Given the description of an element on the screen output the (x, y) to click on. 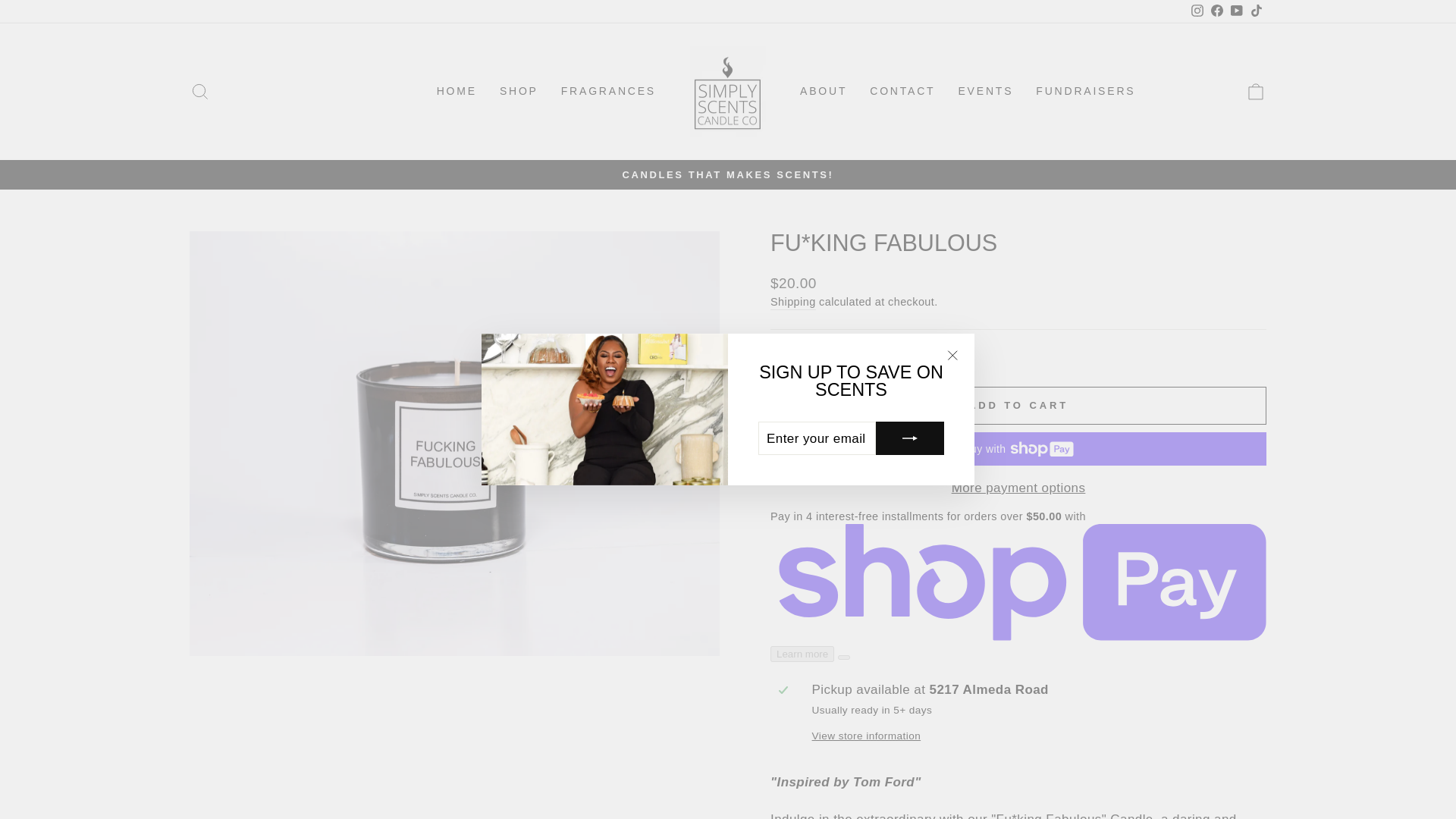
ICON-BAG-MINIMAL (1255, 91)
EVENTS (985, 91)
Shipping (792, 302)
CONTACT (902, 91)
FUNDRAISERS (1255, 92)
ICON-SEARCH (199, 92)
SHOP (1086, 91)
More payment options (200, 91)
ADD TO CART (518, 91)
icon-X (1018, 487)
ABOUT (1018, 405)
instagram (952, 355)
HOME (824, 91)
